Given the description of an element on the screen output the (x, y) to click on. 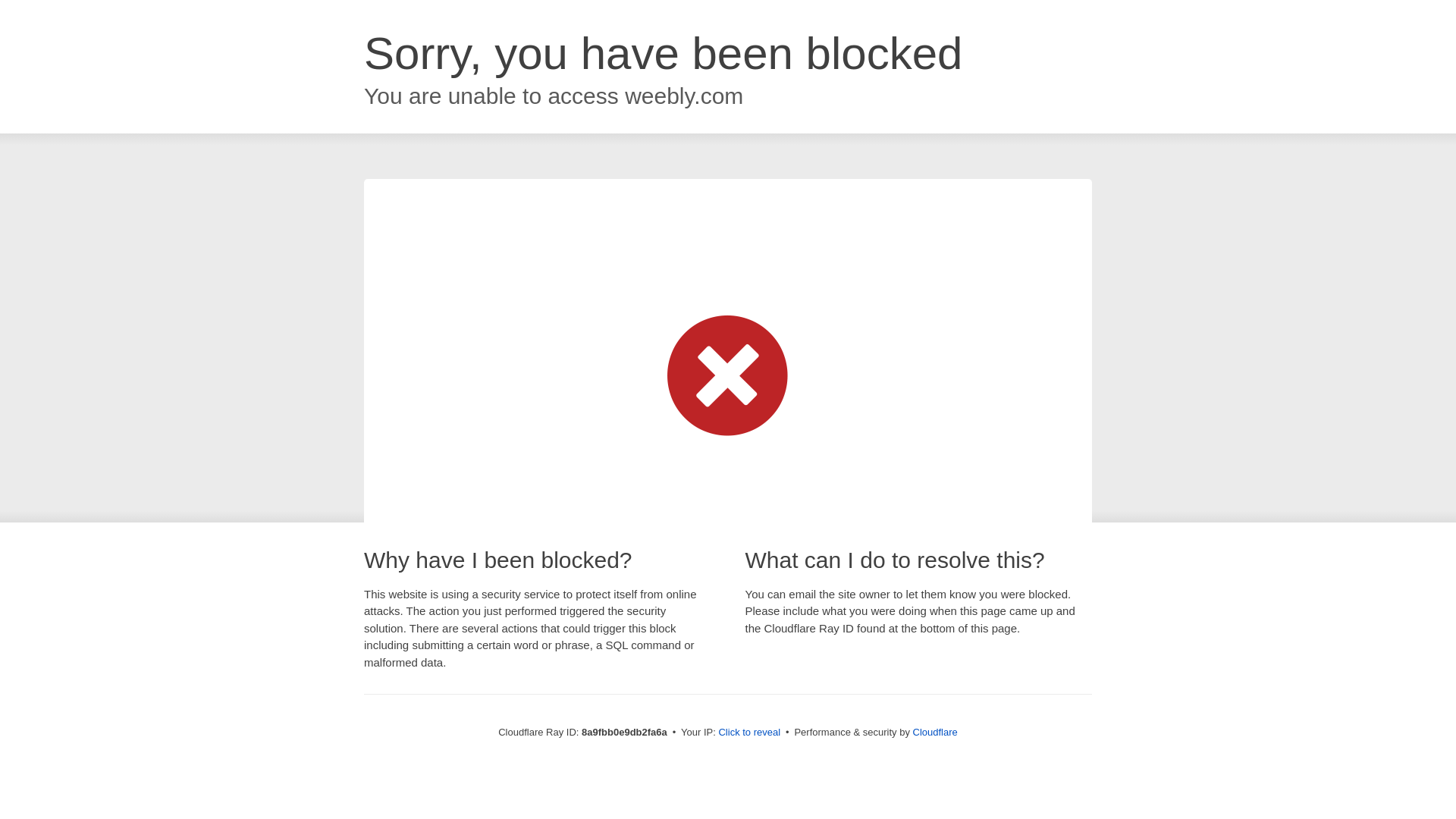
Cloudflare (935, 731)
Click to reveal (748, 732)
